Given the description of an element on the screen output the (x, y) to click on. 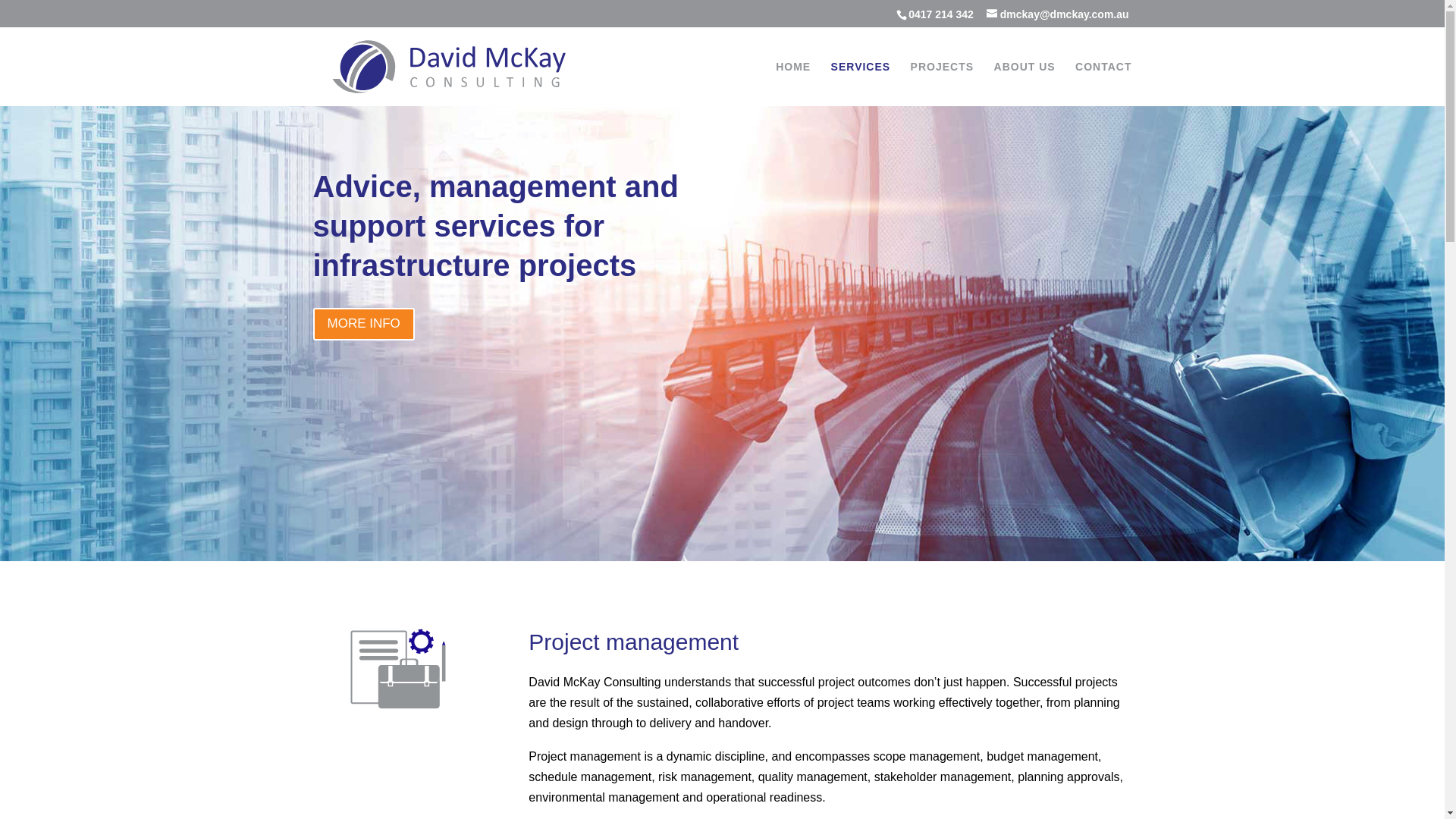
HOME Element type: text (792, 83)
MORE INFO Element type: text (363, 323)
SERVICES Element type: text (861, 83)
ABOUT US Element type: text (1024, 83)
PROJECTS Element type: text (941, 83)
CONTACT Element type: text (1103, 83)
dmckay@dmckay.com.au Element type: text (1057, 13)
